Given the description of an element on the screen output the (x, y) to click on. 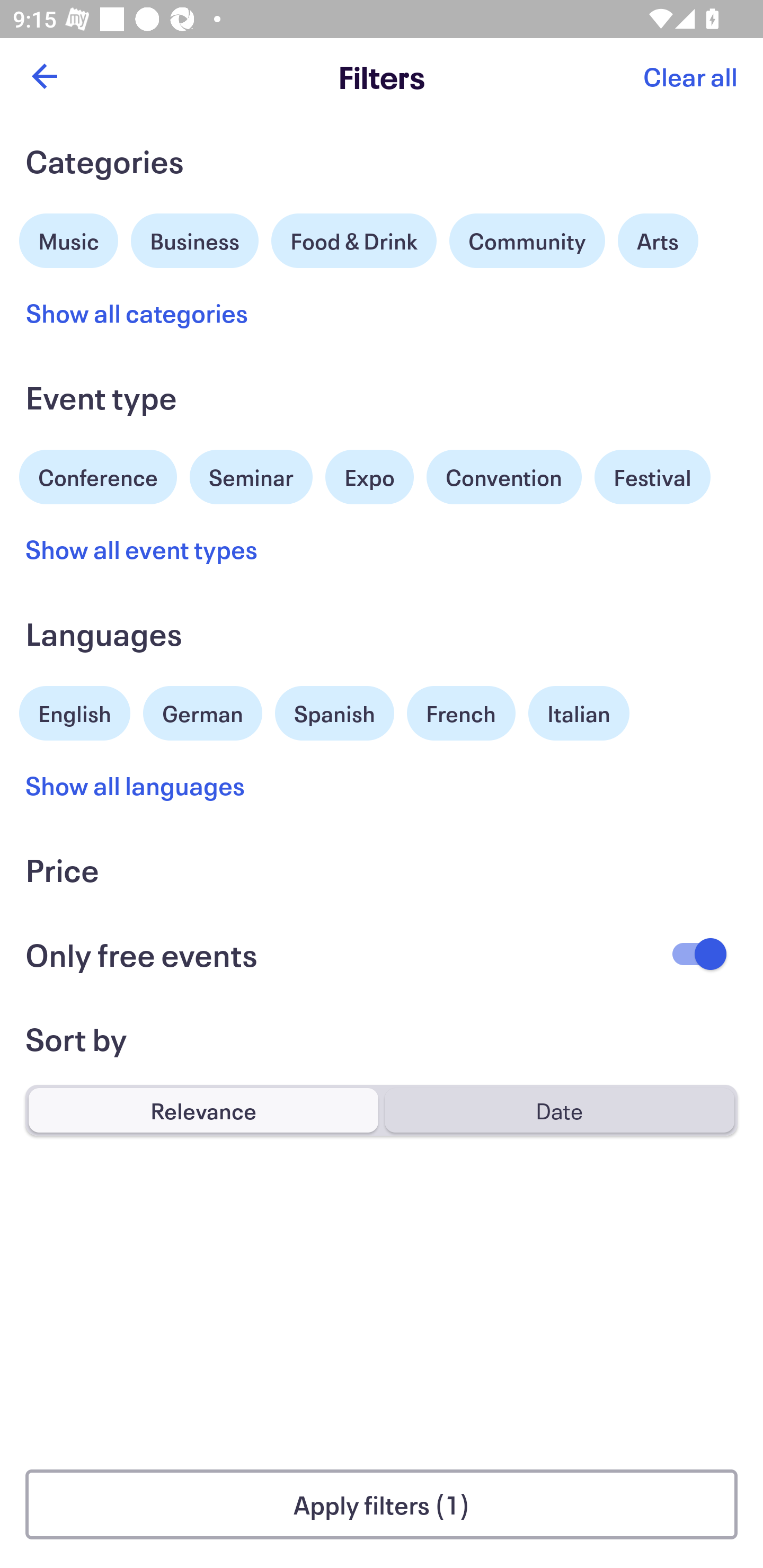
Back button (44, 75)
Clear all (690, 75)
Music (68, 238)
Business (194, 238)
Food & Drink (353, 240)
Community (527, 240)
Arts (658, 240)
Show all categories (136, 312)
Conference (98, 475)
Seminar (250, 477)
Expo (369, 477)
Convention (503, 477)
Festival (652, 477)
Show all event types (141, 548)
English (74, 710)
German (202, 710)
Spanish (334, 713)
French (460, 713)
Italian (578, 713)
Show all languages (135, 784)
Relevance (203, 1109)
Date (559, 1109)
Apply filters (1) (381, 1504)
